Given the description of an element on the screen output the (x, y) to click on. 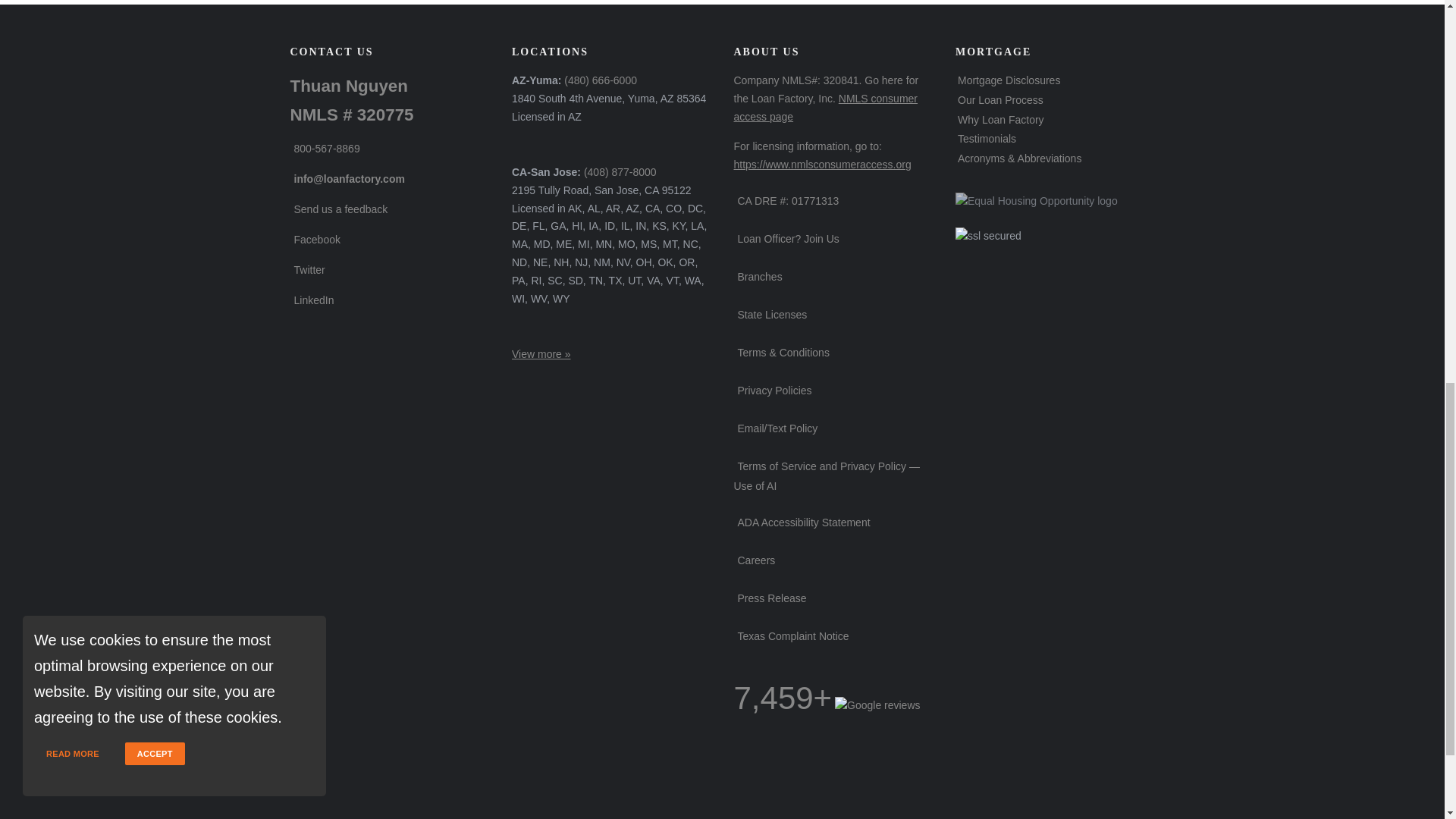
800-567-8869 (324, 148)
